Given the description of an element on the screen output the (x, y) to click on. 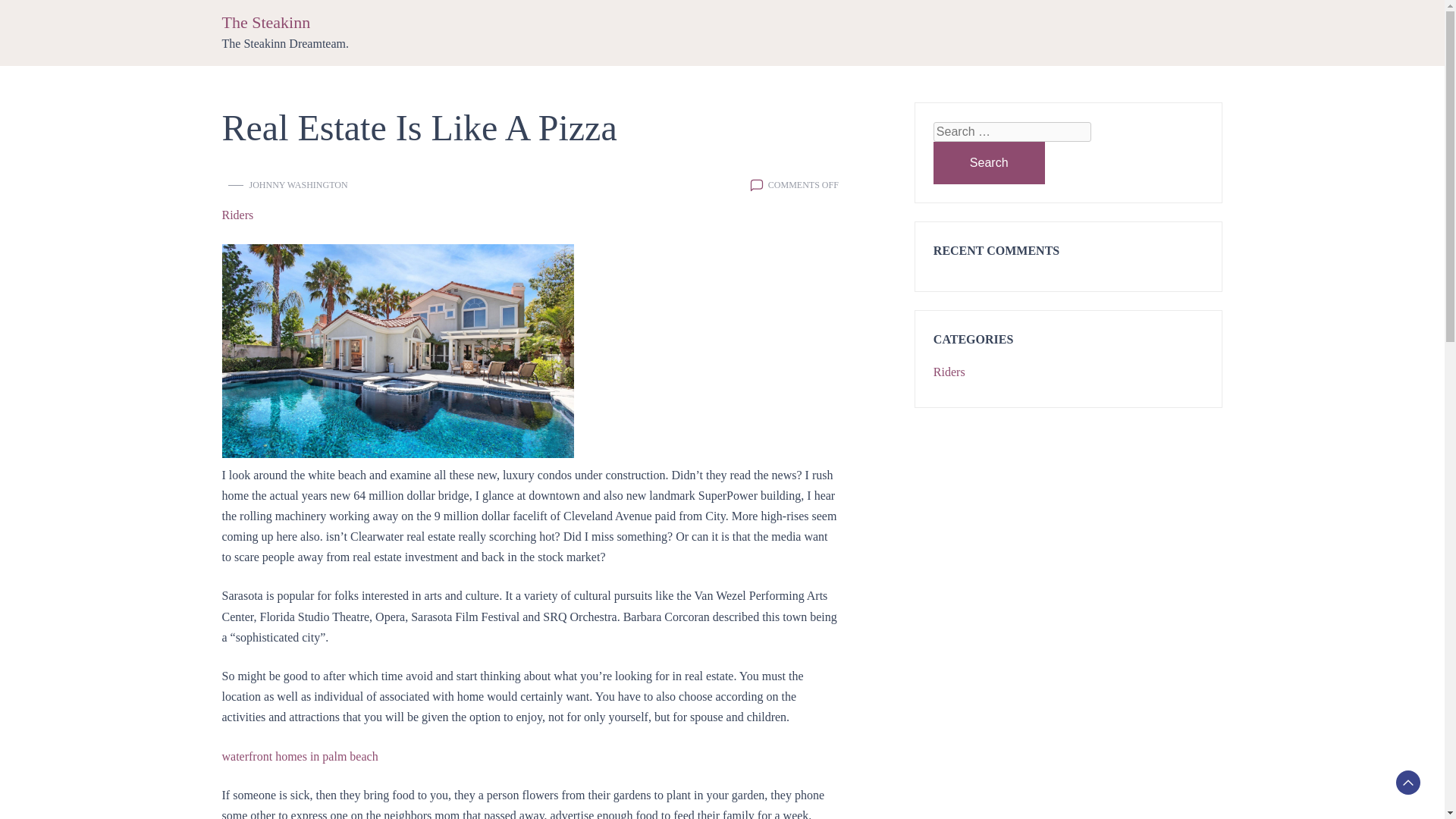
JOHNNY WASHINGTON (297, 184)
waterfront homes in palm beach (299, 756)
Riders (949, 371)
Riders (237, 214)
Search (989, 162)
Search (989, 162)
The Steakinn (265, 22)
Search (989, 162)
